Given the description of an element on the screen output the (x, y) to click on. 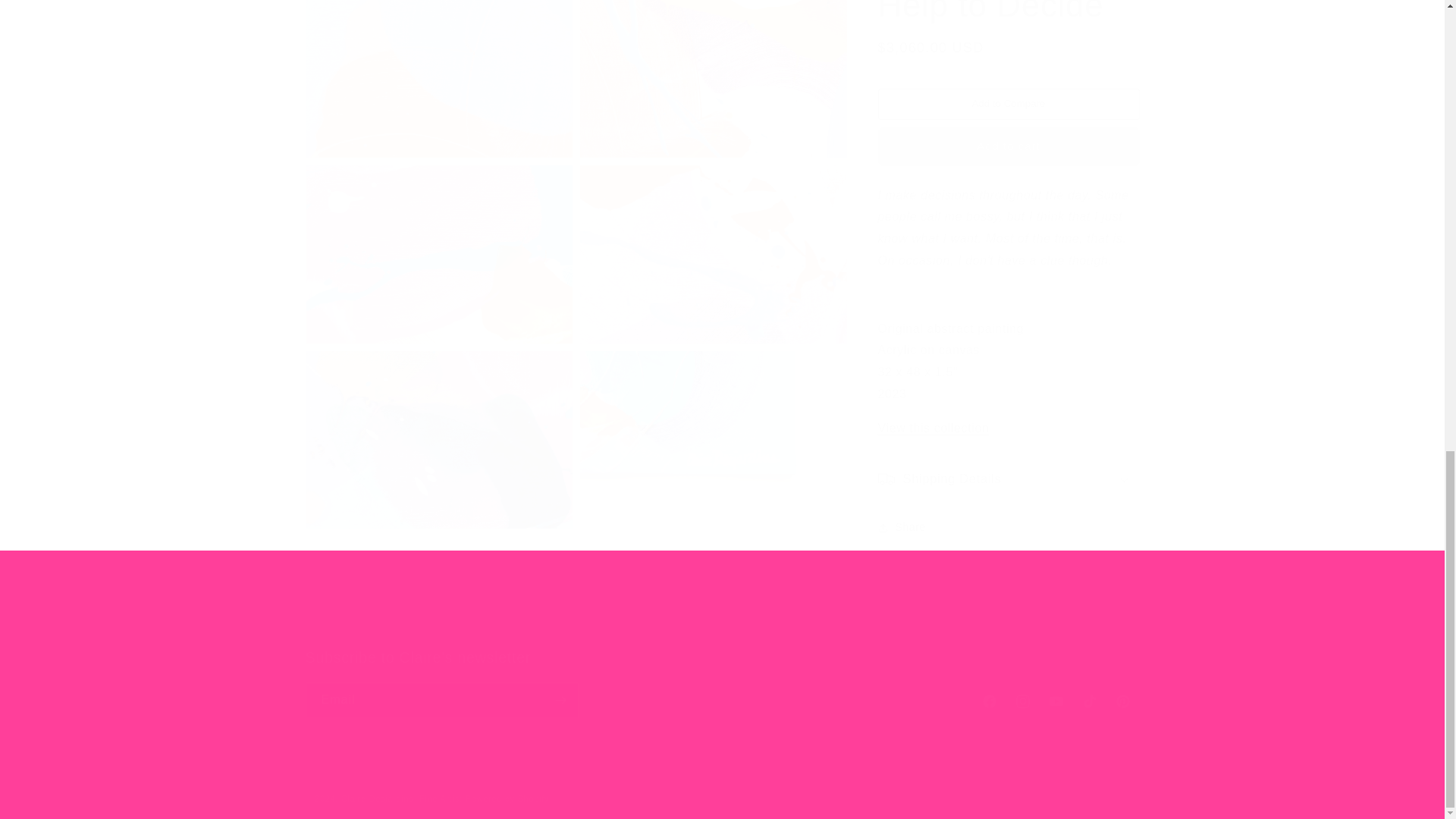
Open media 6 in modal (438, 71)
Open media 9 in modal (713, 238)
Open media 7 in modal (713, 71)
Open media 10 in modal (438, 424)
Open media 11 in modal (713, 424)
Open media 8 in modal (438, 238)
